Given the description of an element on the screen output the (x, y) to click on. 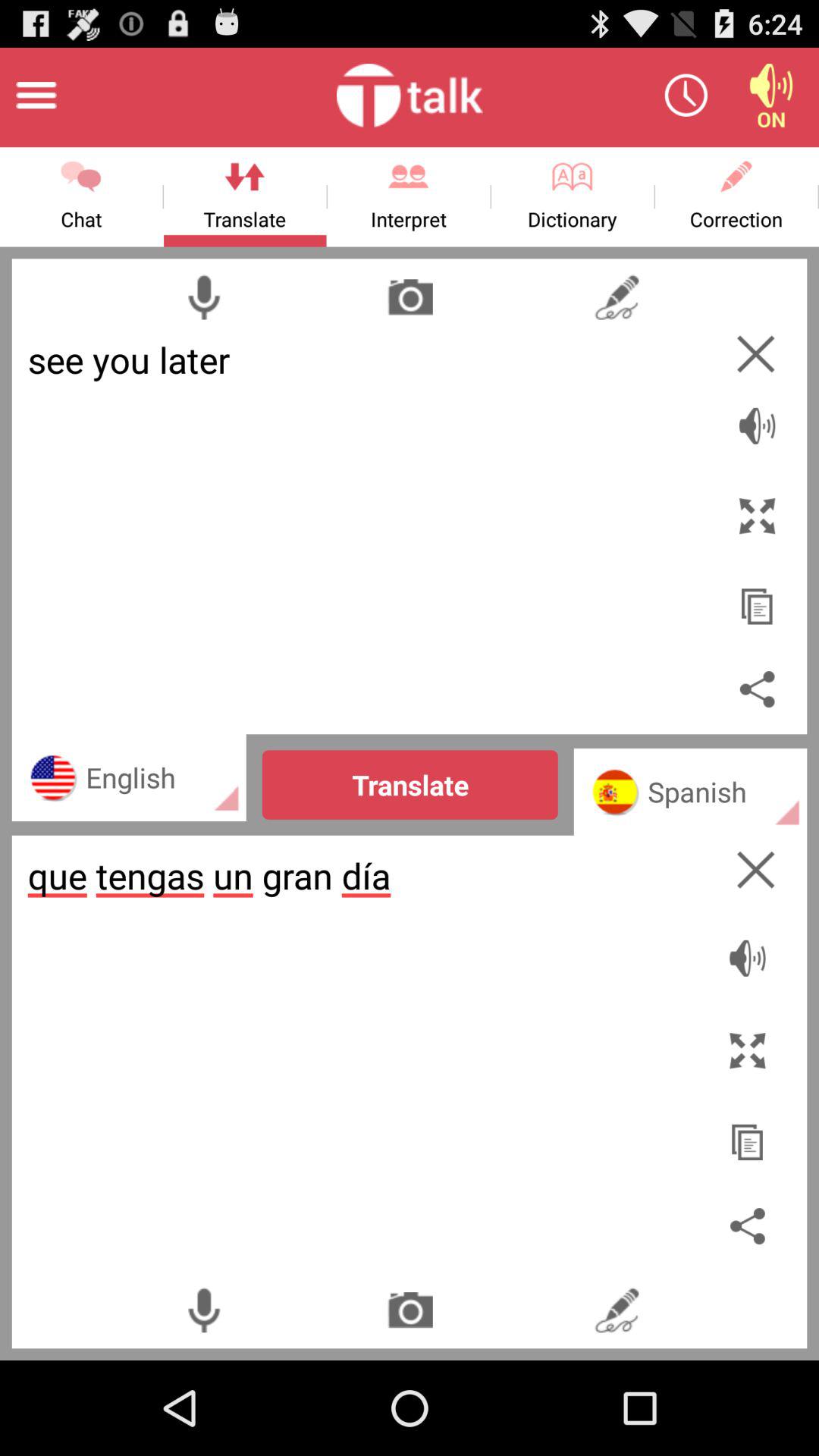
share this page (750, 1225)
